Given the description of an element on the screen output the (x, y) to click on. 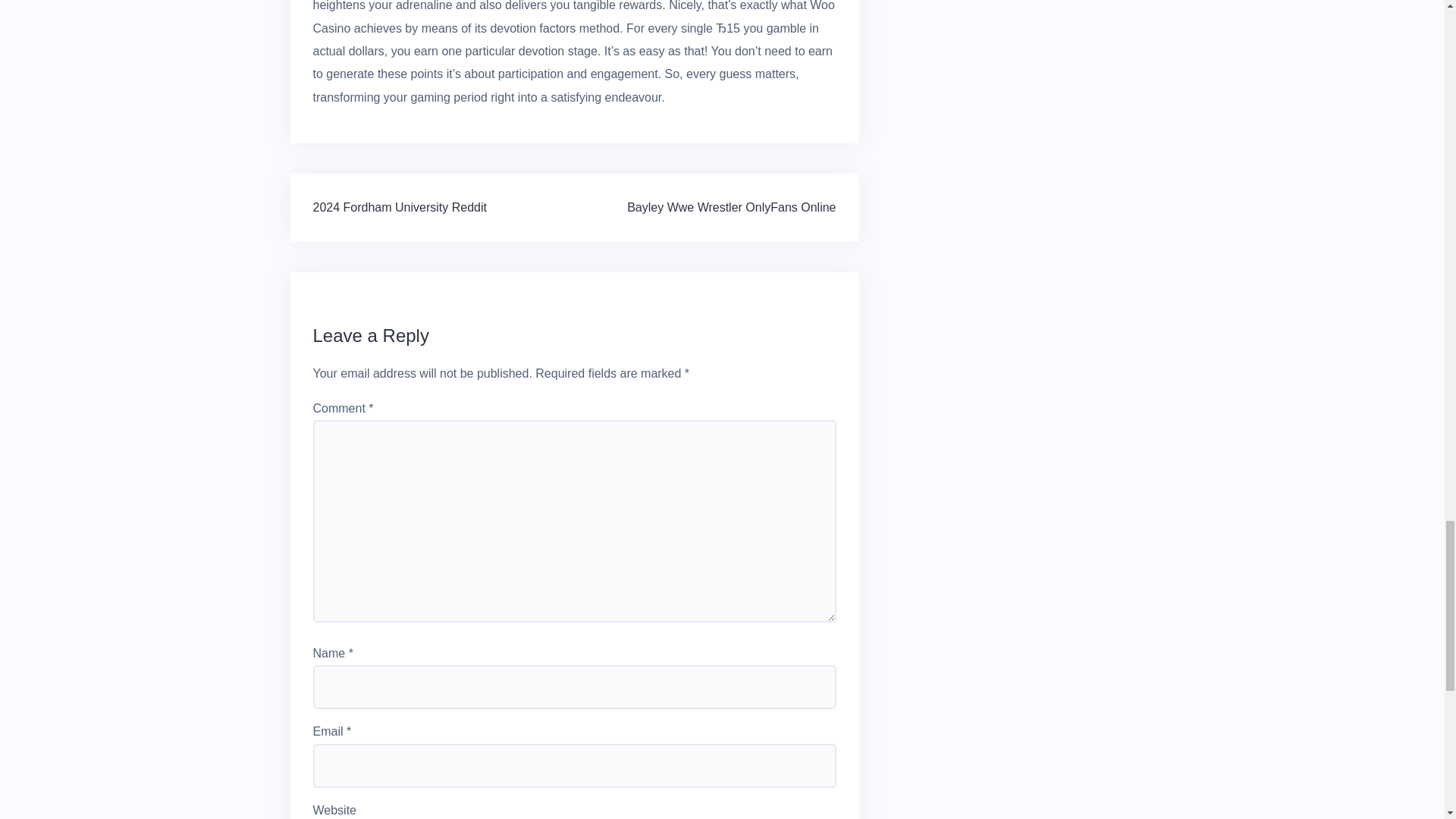
2024 Fordham University Reddit (399, 206)
Bayley Wwe Wrestler OnlyFans Online (731, 206)
